Given the description of an element on the screen output the (x, y) to click on. 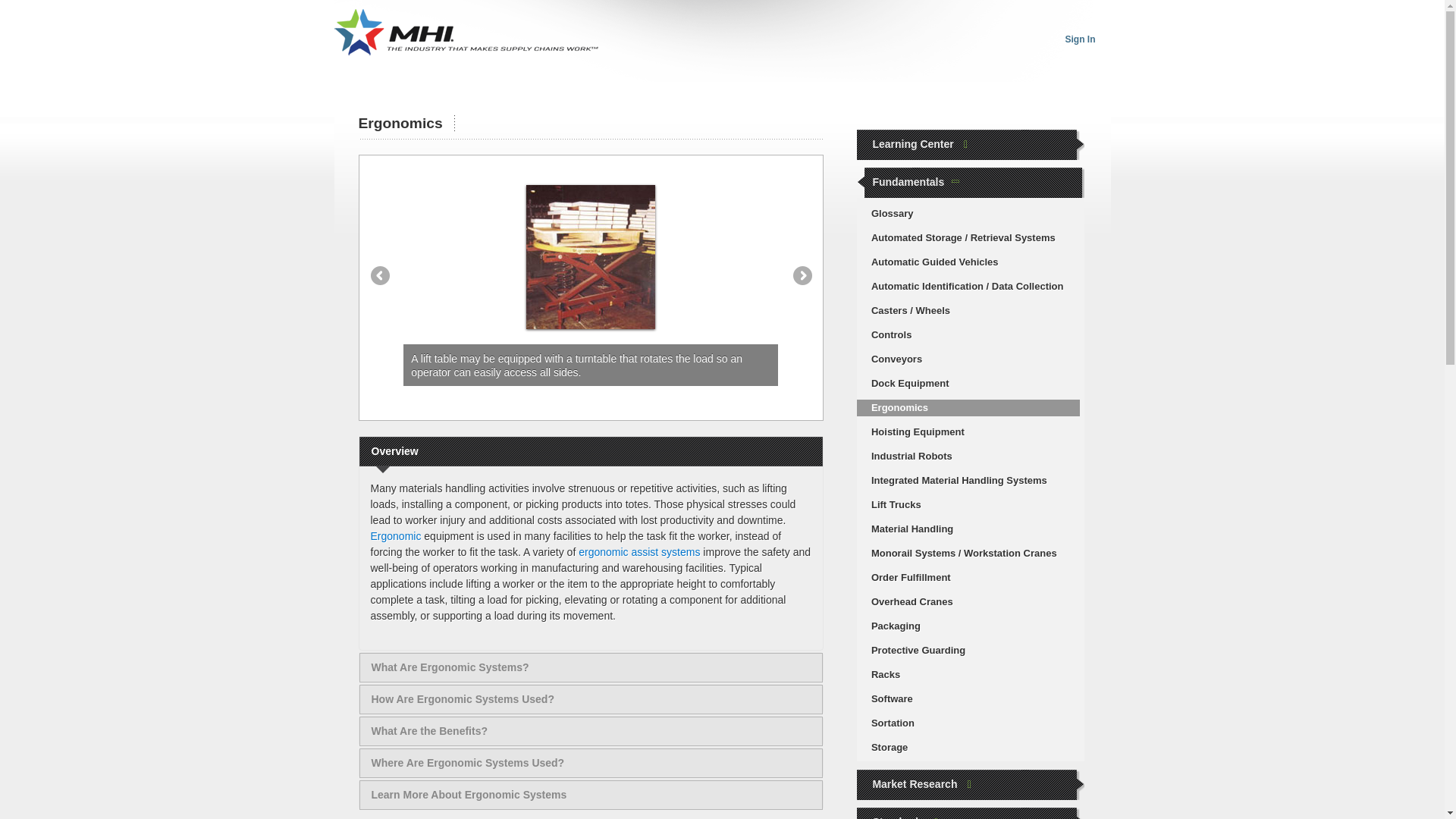
Sign In (1079, 39)
Where Are Ergonomic Systems Used? (590, 763)
Ergonomic (394, 535)
Overview (590, 451)
What Are the Benefits? (590, 731)
How Are Ergonomic Systems Used? (590, 699)
ergonomic assist systems (639, 551)
Learn More About Ergonomic Systems (590, 795)
Previous (379, 275)
Next (802, 275)
What Are Ergonomic Systems? (590, 667)
